Given the description of an element on the screen output the (x, y) to click on. 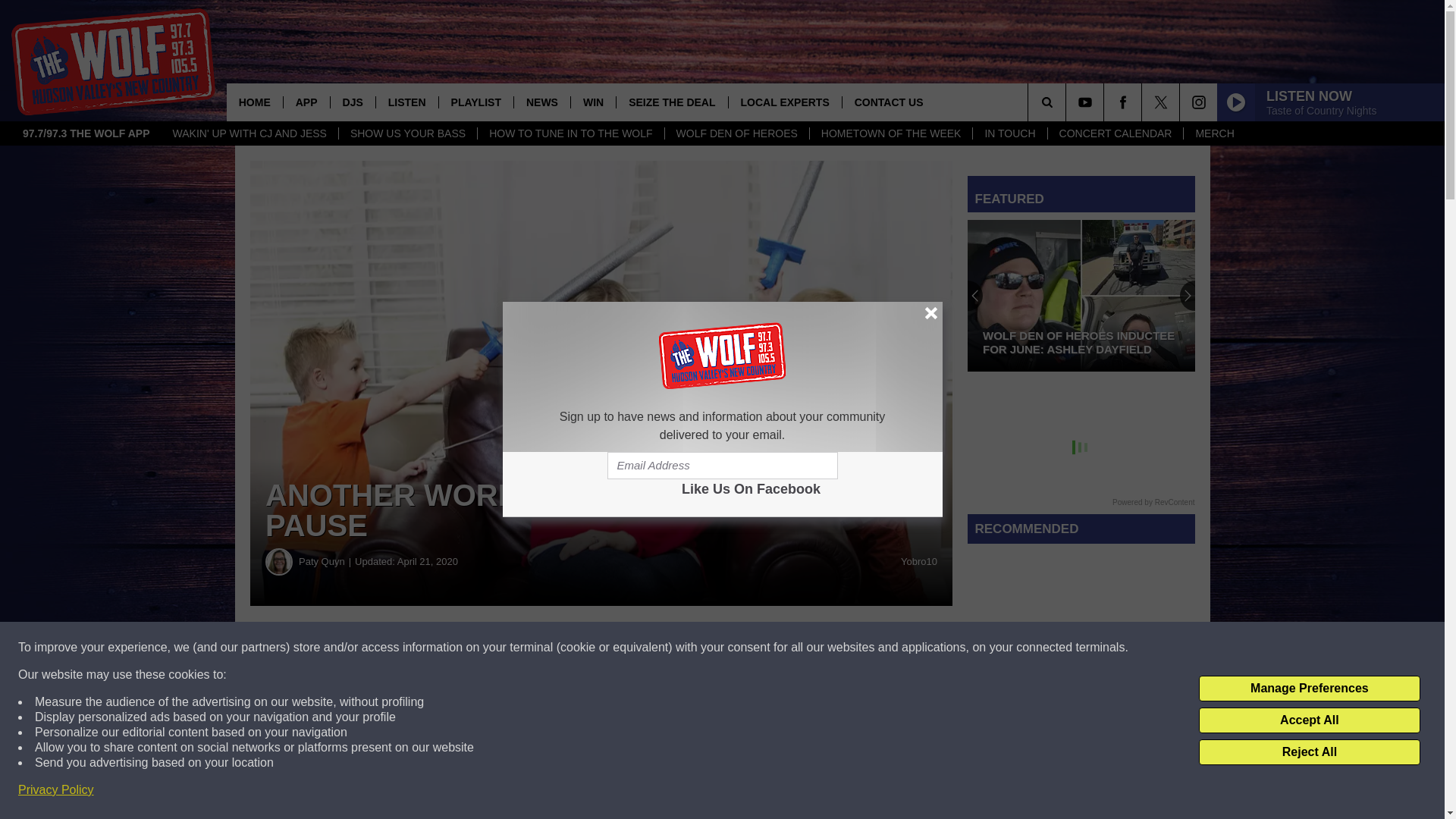
HOME (254, 102)
Share on Facebook (460, 647)
CONCERT CALENDAR (1114, 133)
WOLF DEN OF HEROES (736, 133)
Share on Twitter (741, 647)
WIN (592, 102)
SEIZE THE DEAL (670, 102)
PLAYLIST (475, 102)
Manage Preferences (1309, 688)
SEARCH (1068, 102)
DJS (352, 102)
MERCH (1213, 133)
HOMETOWN OF THE WEEK (890, 133)
IN TOUCH (1009, 133)
SEARCH (1068, 102)
